Given the description of an element on the screen output the (x, y) to click on. 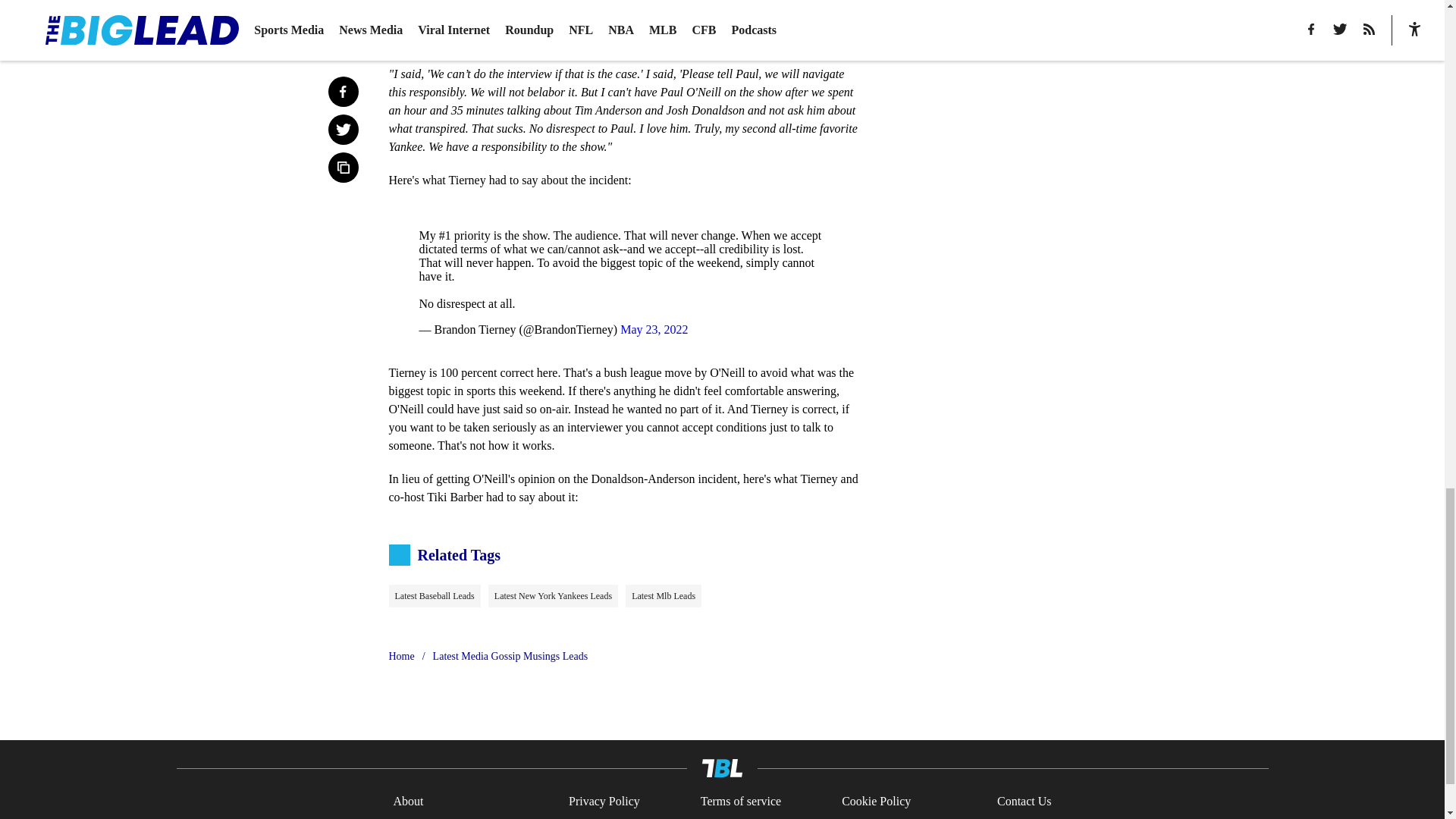
Latest New York Yankees Leads (552, 595)
Contact Us (1024, 801)
Home (400, 656)
Latest Baseball Leads (434, 595)
May 23, 2022 (653, 328)
About (408, 801)
Cookie Policy (876, 801)
Latest Mlb Leads (663, 595)
Latest Media Gossip Musings Leads (510, 656)
Terms of service (740, 801)
Privacy Policy (604, 801)
